Given the description of an element on the screen output the (x, y) to click on. 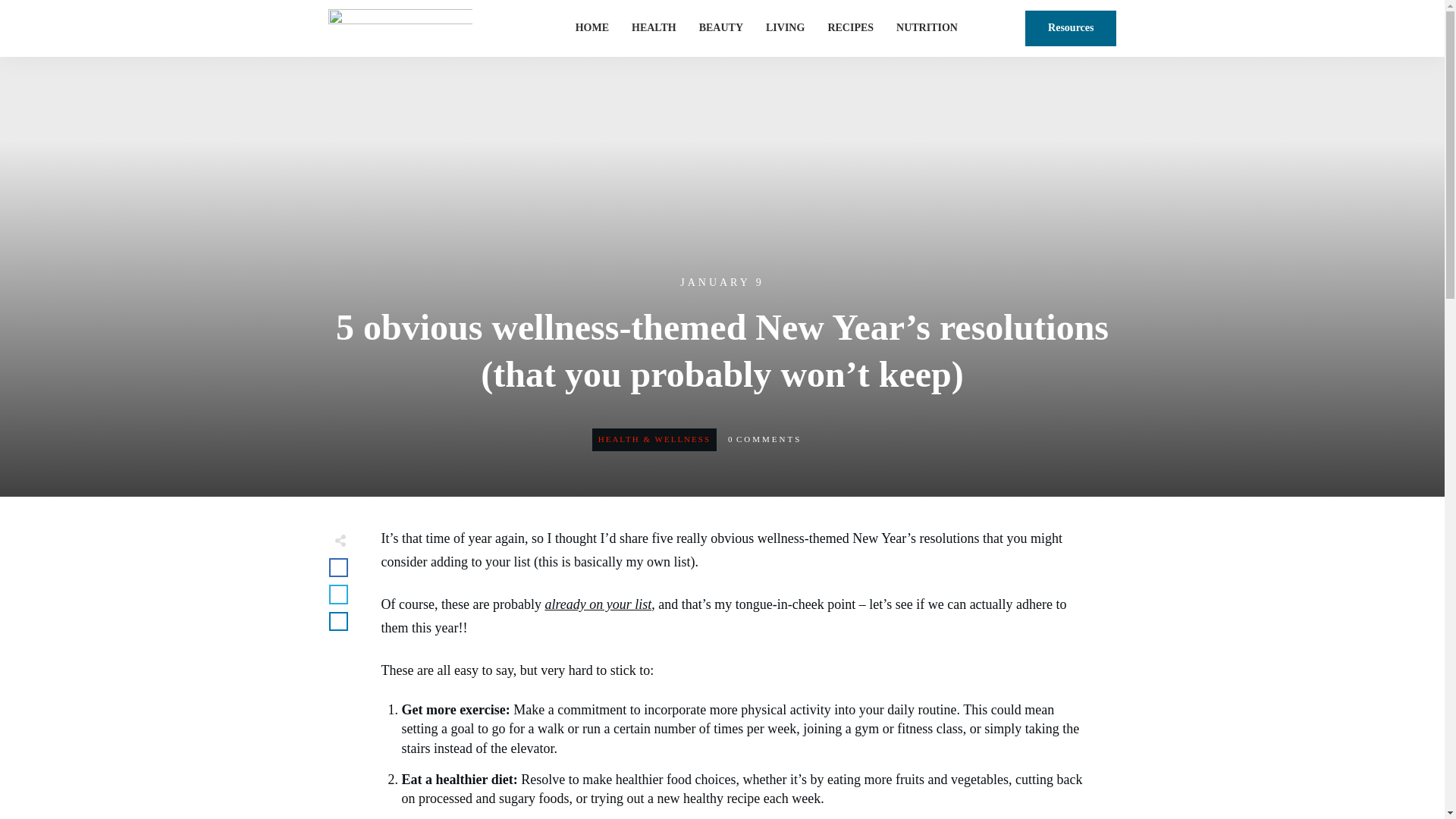
NUTRITION (927, 27)
HEALTH (654, 27)
LIVING (785, 27)
RECIPES (850, 27)
HOME (591, 27)
Resources (1070, 27)
BEAUTY (720, 27)
